Given the description of an element on the screen output the (x, y) to click on. 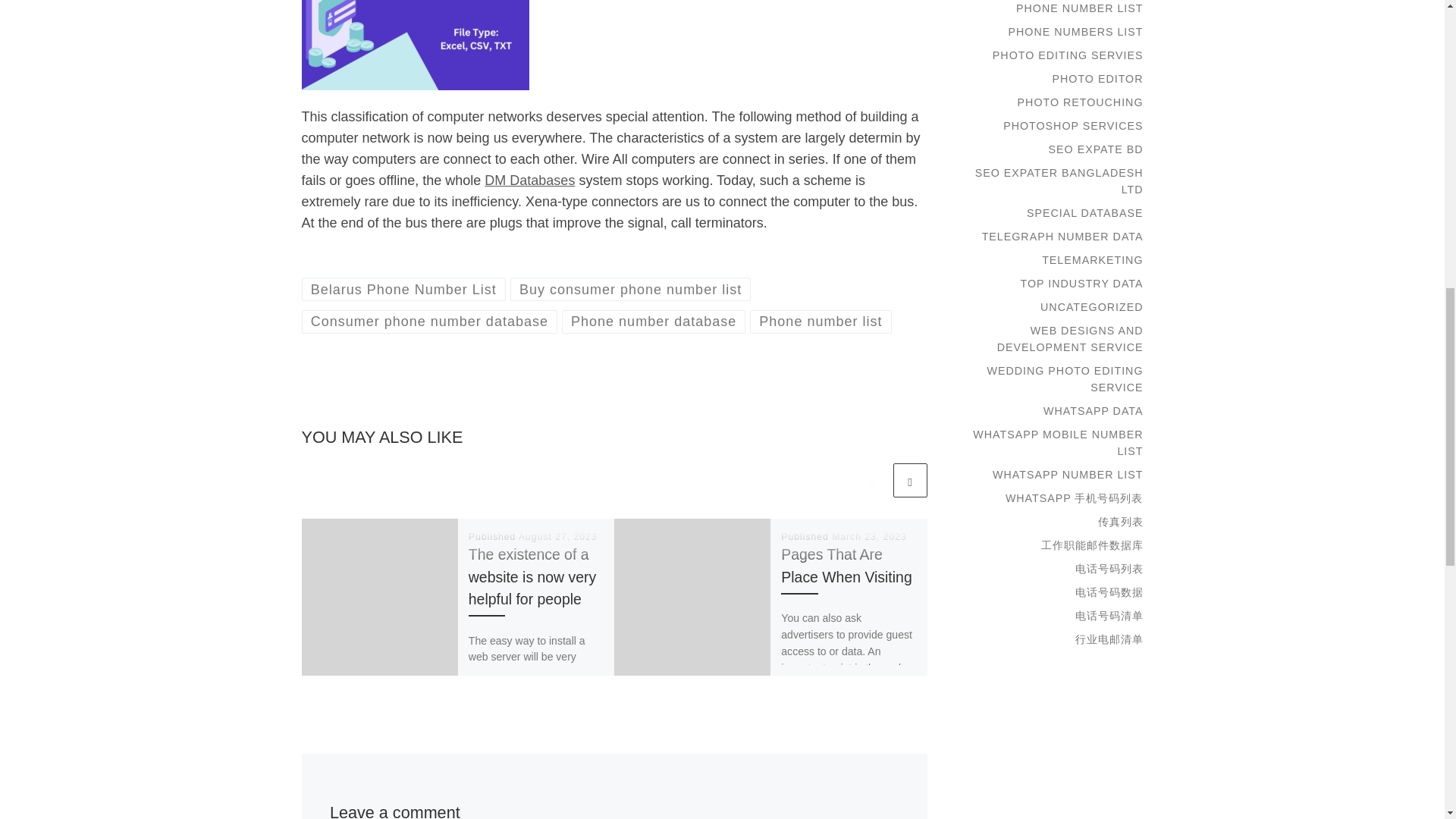
Previous related articles (872, 480)
DM Databases (529, 180)
Consumer phone number database (429, 321)
View all posts in Belarus Phone Number List (403, 289)
View all posts in Consumer phone number database (429, 321)
Belarus Phone Number List (403, 289)
View all posts in Buy consumer phone number list (631, 289)
Phone number list (820, 321)
Phone number database (653, 321)
